Given the description of an element on the screen output the (x, y) to click on. 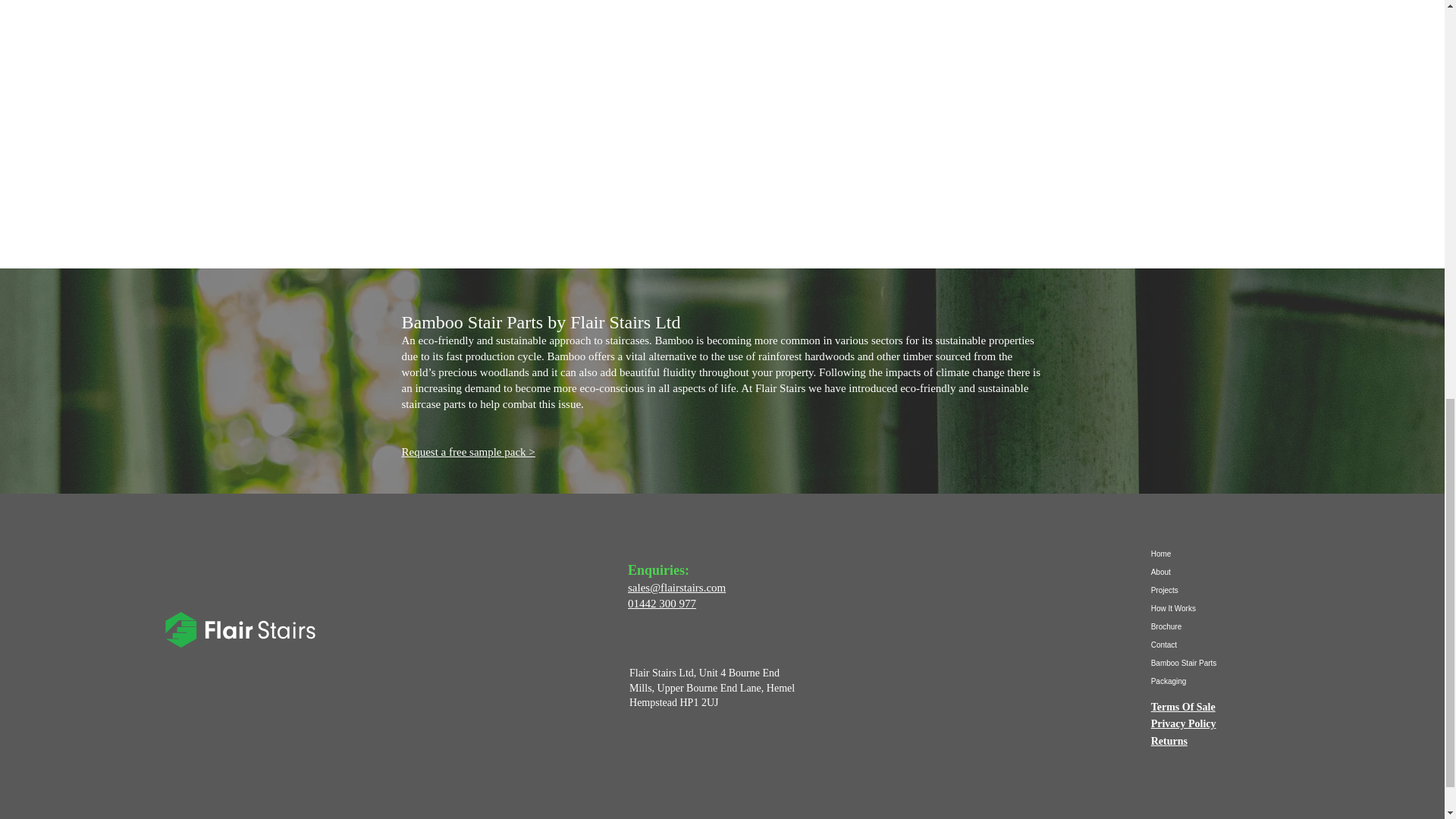
Contact (1204, 645)
Returns (1169, 740)
Packaging (1204, 681)
Brochure (1204, 627)
How It Works (1204, 608)
Home (1204, 554)
Terms Of Sale (1183, 706)
Bamboo Stair Parts (1204, 663)
About (1204, 572)
Privacy Policy (1183, 723)
Projects (1204, 590)
